Given the description of an element on the screen output the (x, y) to click on. 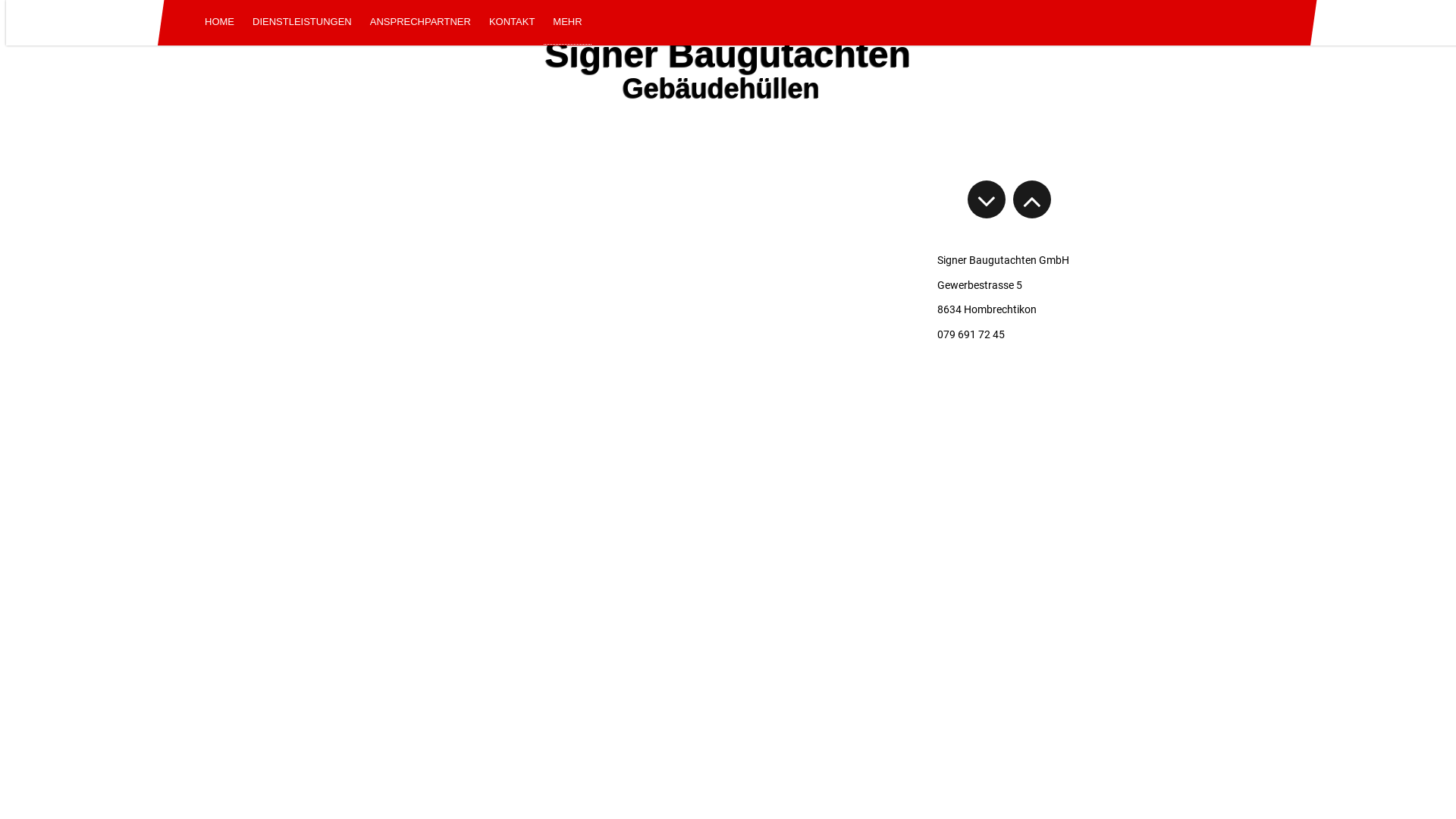
MEHR Element type: text (566, 22)
KONTAKT Element type: text (511, 22)
DIENSTLEISTUNGEN Element type: text (301, 22)
HOME Element type: text (219, 22)
ANSPRECHPARTNER Element type: text (420, 22)
